Given the description of an element on the screen output the (x, y) to click on. 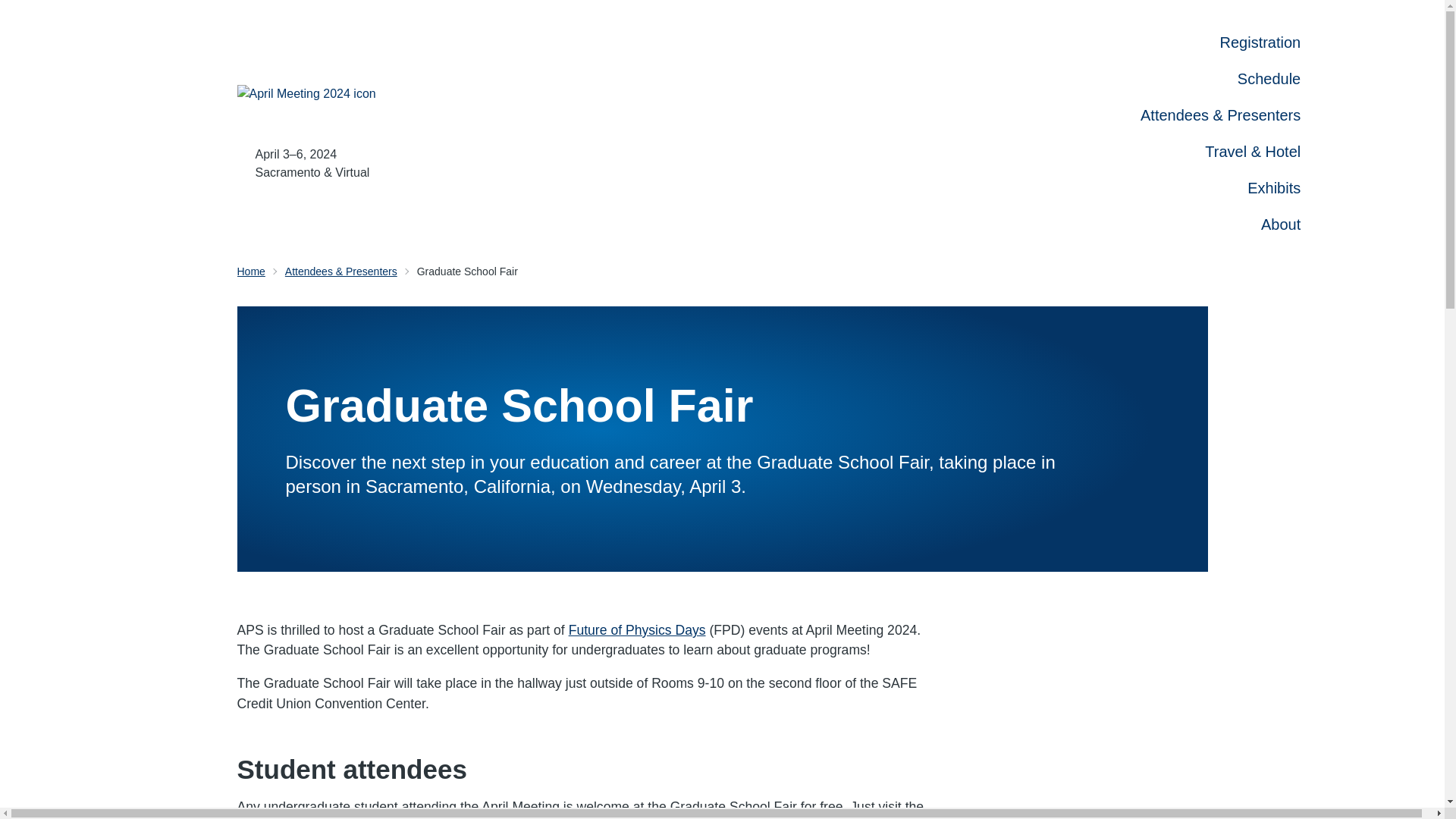
Schedule (1268, 78)
About (1280, 223)
Future of Physics Days (637, 630)
Registration (1260, 42)
Exhibits (1273, 187)
Home (249, 271)
